Given the description of an element on the screen output the (x, y) to click on. 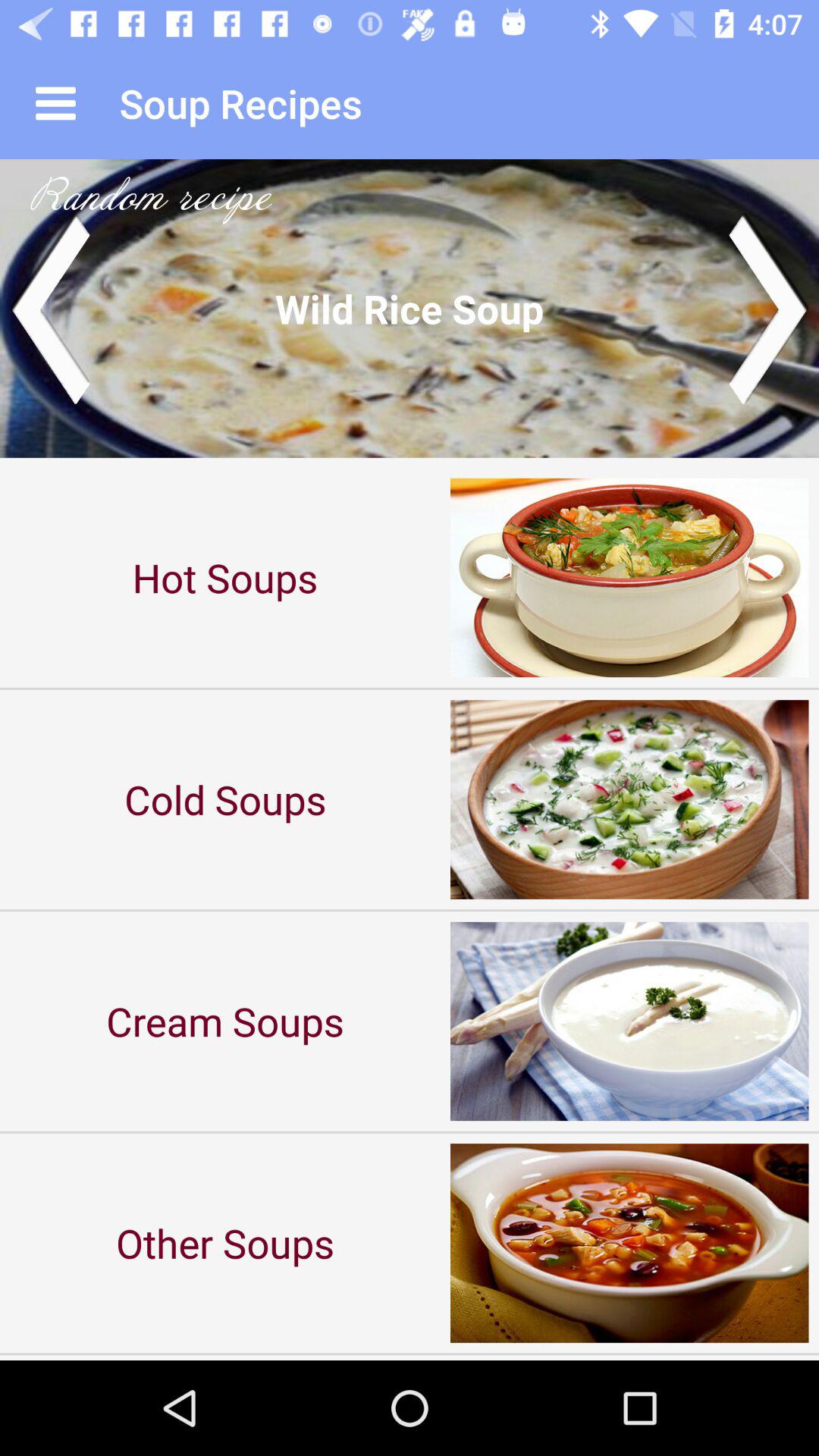
flip until the cold soups icon (225, 798)
